Given the description of an element on the screen output the (x, y) to click on. 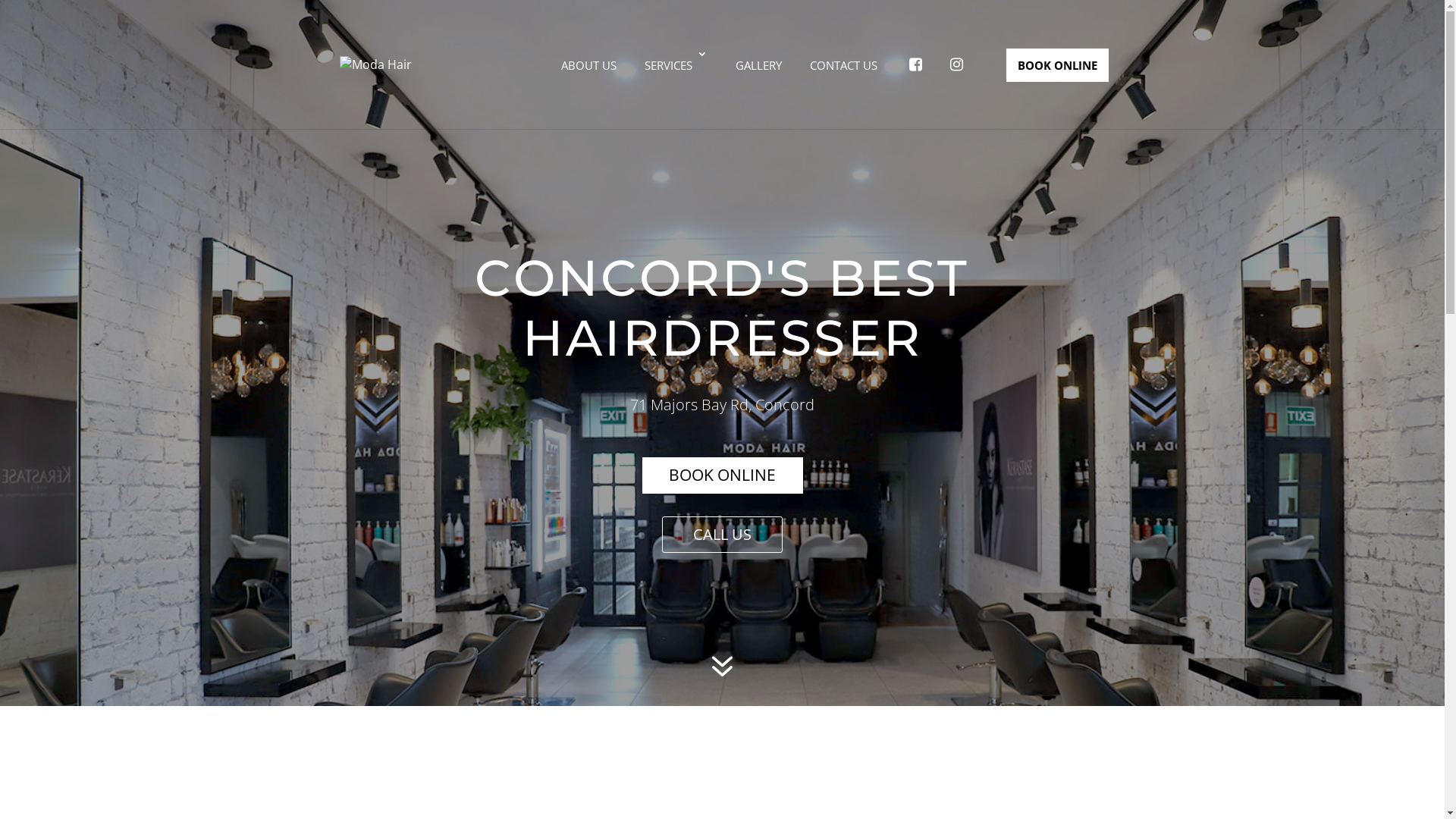
BOOK ONLINE Element type: text (1056, 64)
7 Element type: text (721, 667)
CONTACT US Element type: text (843, 64)
GALLERY Element type: text (758, 64)
CALL US Element type: text (722, 534)
BOOK ONLINE Element type: text (721, 475)
SERVICES Element type: text (675, 64)
ABOUT US Element type: text (588, 64)
